Given the description of an element on the screen output the (x, y) to click on. 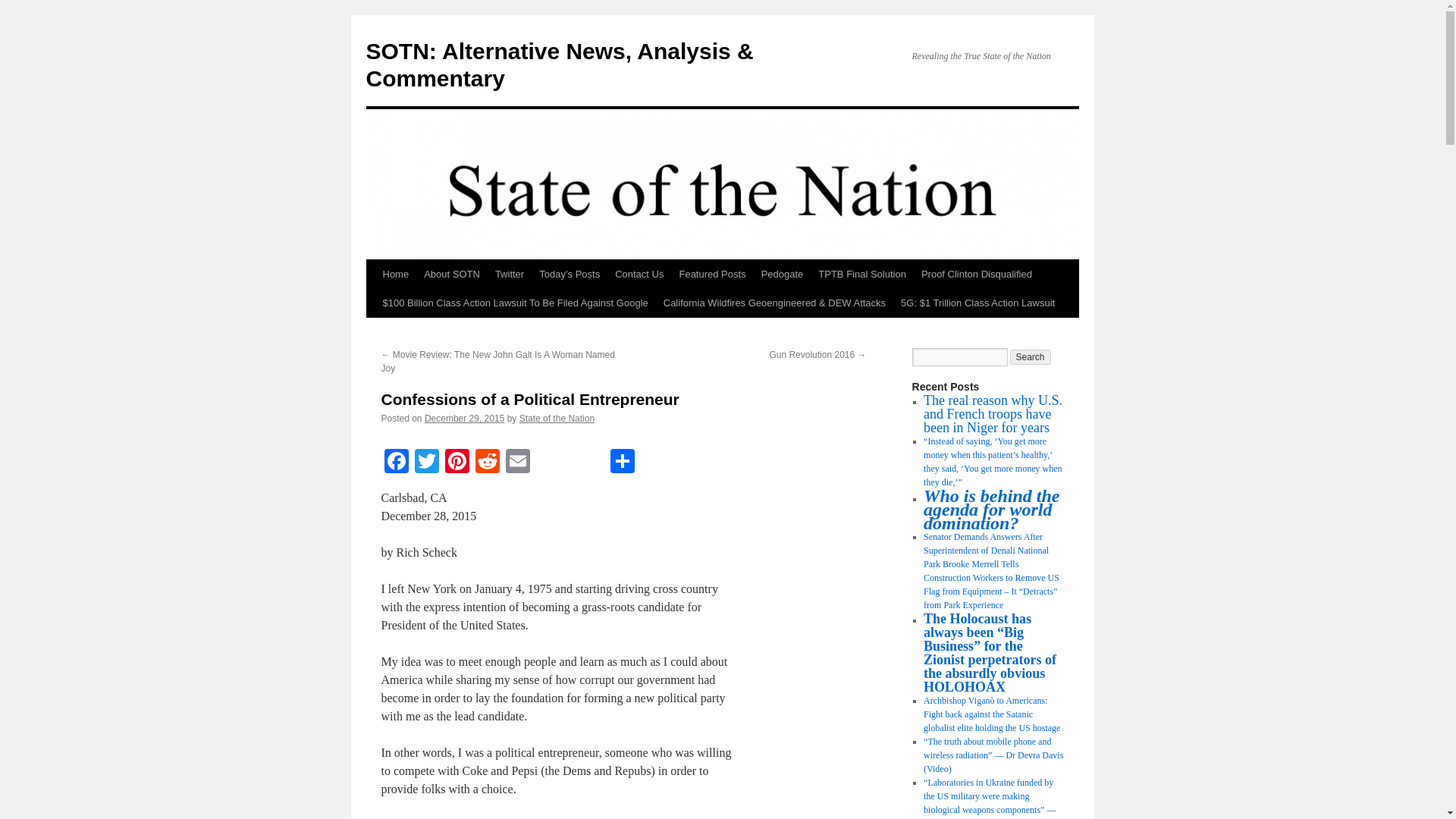
Reddit (486, 462)
Proof Clinton Disqualified (976, 274)
Contact Us (639, 274)
9:05 am (464, 418)
Twitter (509, 274)
TPTB Final Solution (862, 274)
Featured Posts (711, 274)
Pedogate (782, 274)
Search (1030, 356)
Email (517, 462)
